Given the description of an element on the screen output the (x, y) to click on. 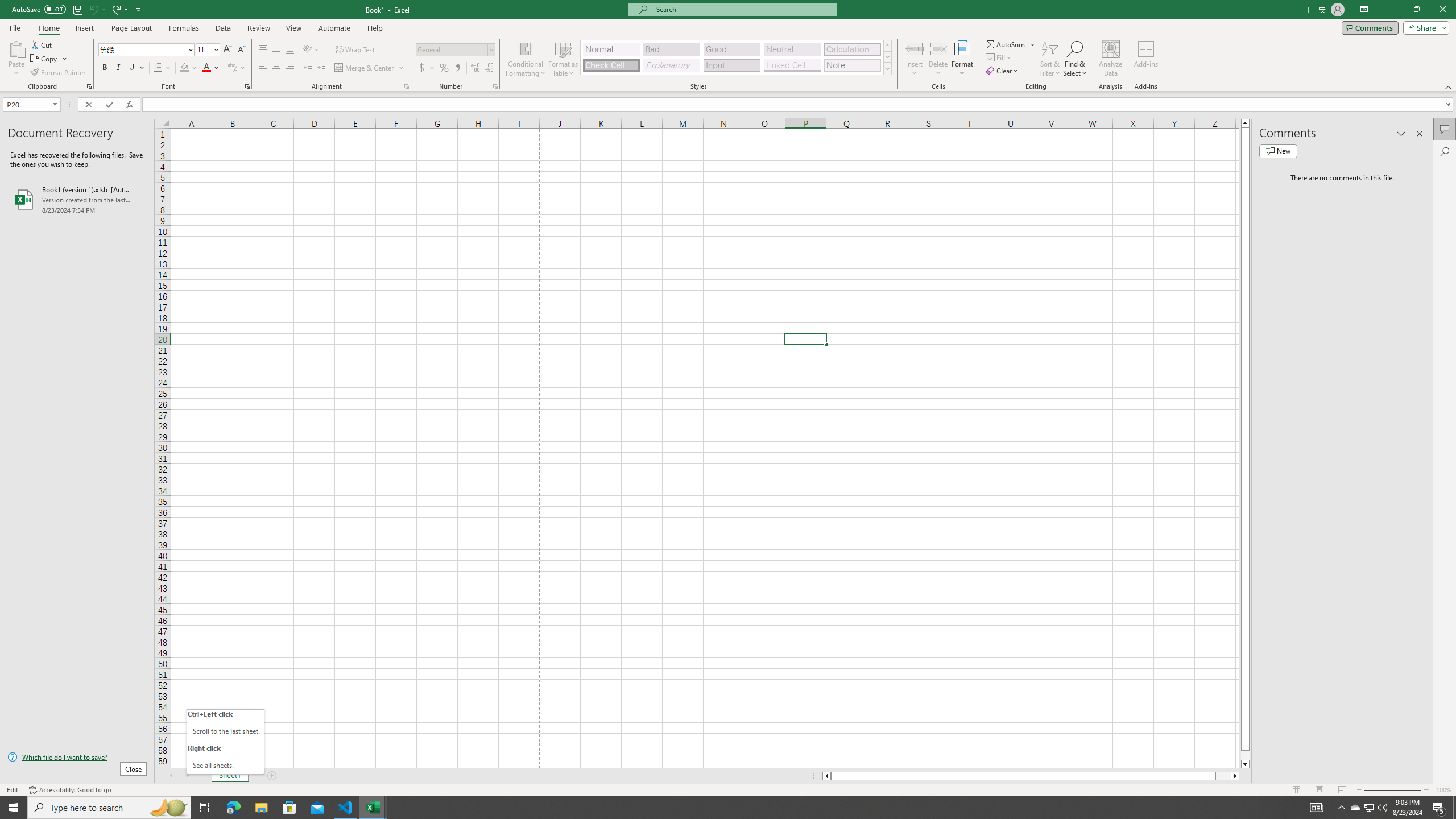
Sort & Filter (1049, 58)
Delete (938, 58)
Decrease Indent (307, 67)
Sum (1006, 44)
Fill Color (188, 67)
Input (731, 65)
